Given the description of an element on the screen output the (x, y) to click on. 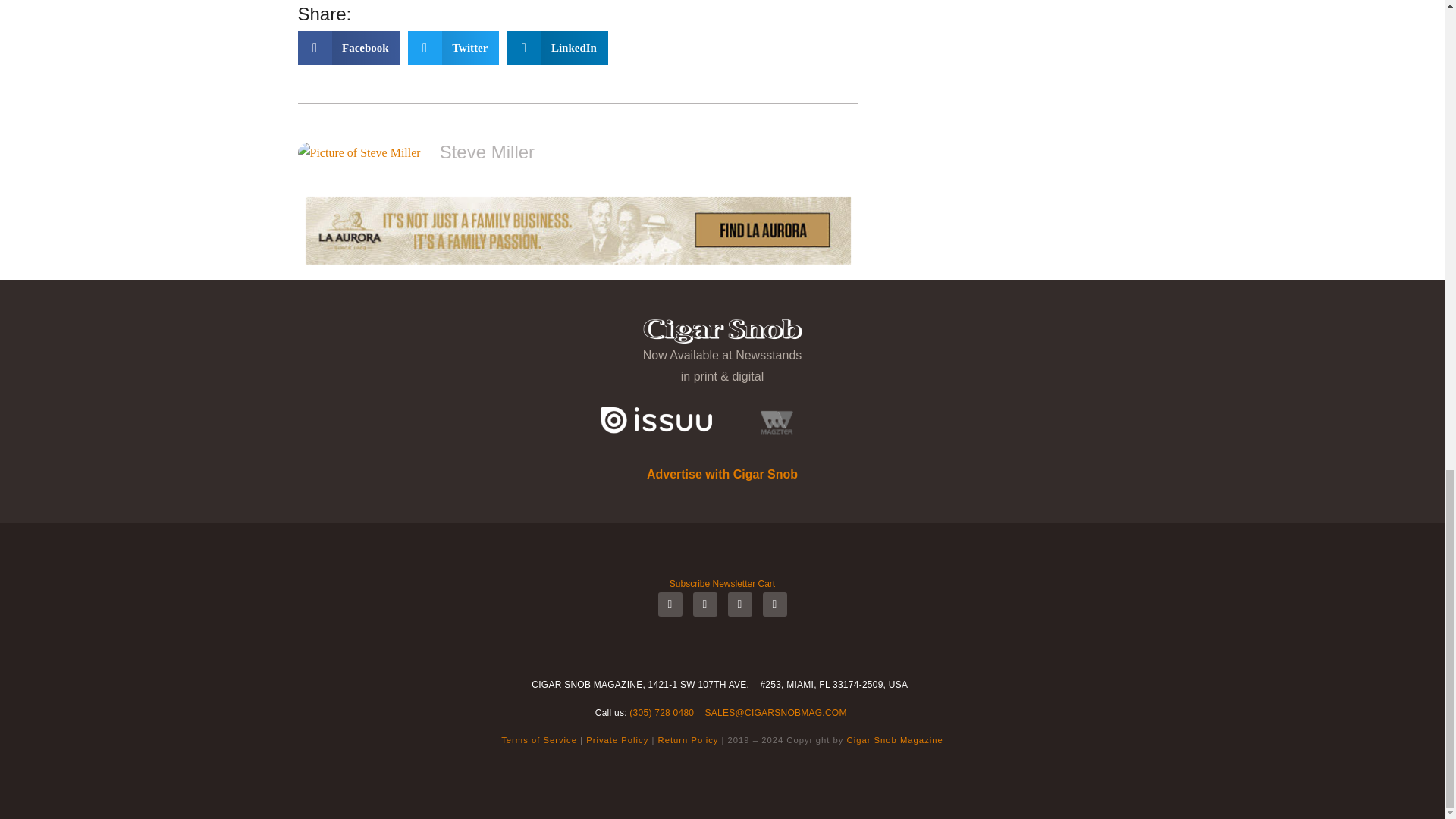
La Aurora Store Locator (577, 230)
